Given the description of an element on the screen output the (x, y) to click on. 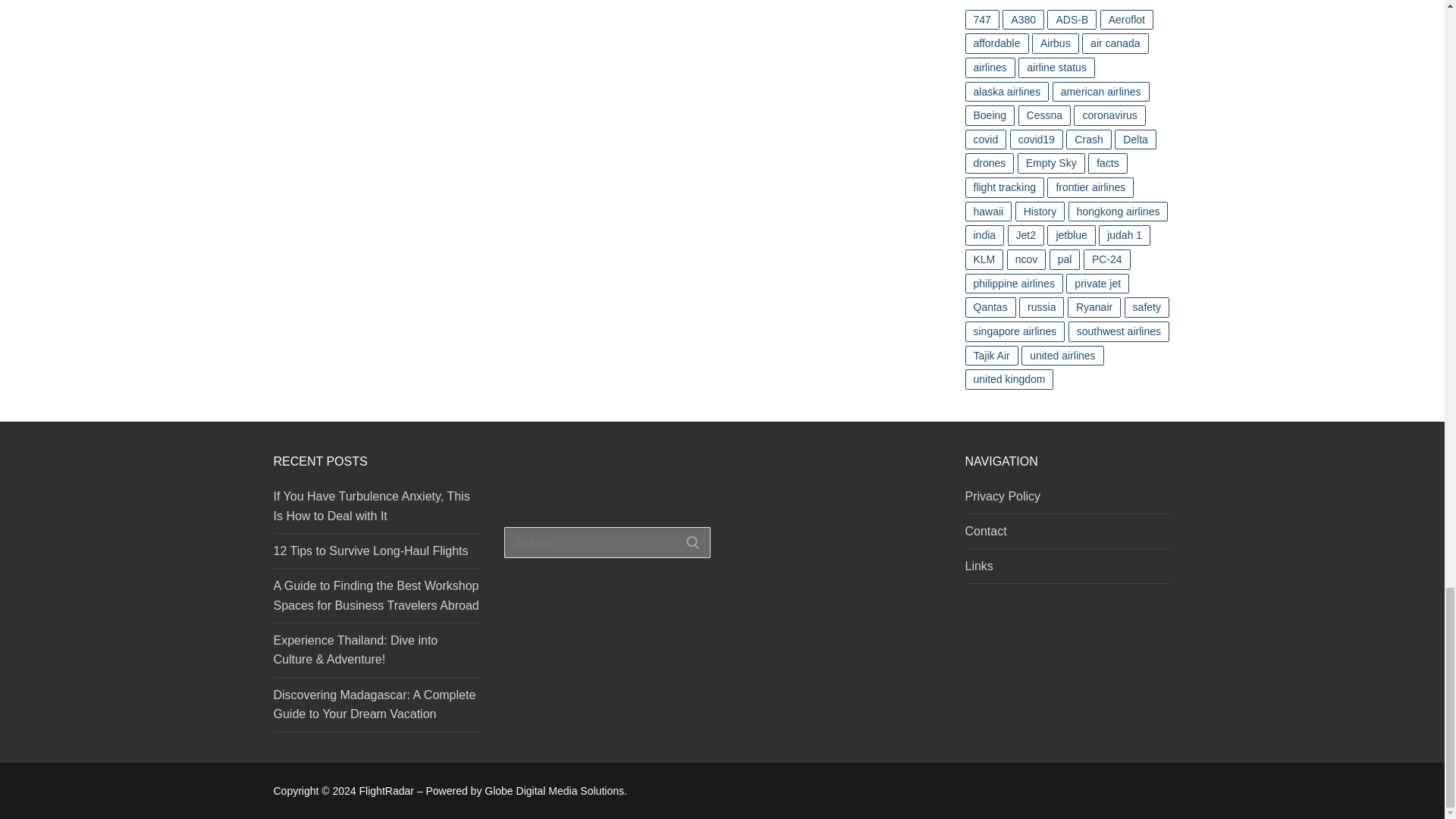
Instagram (556, 470)
Twitter (521, 470)
Search for: (606, 542)
